Given the description of an element on the screen output the (x, y) to click on. 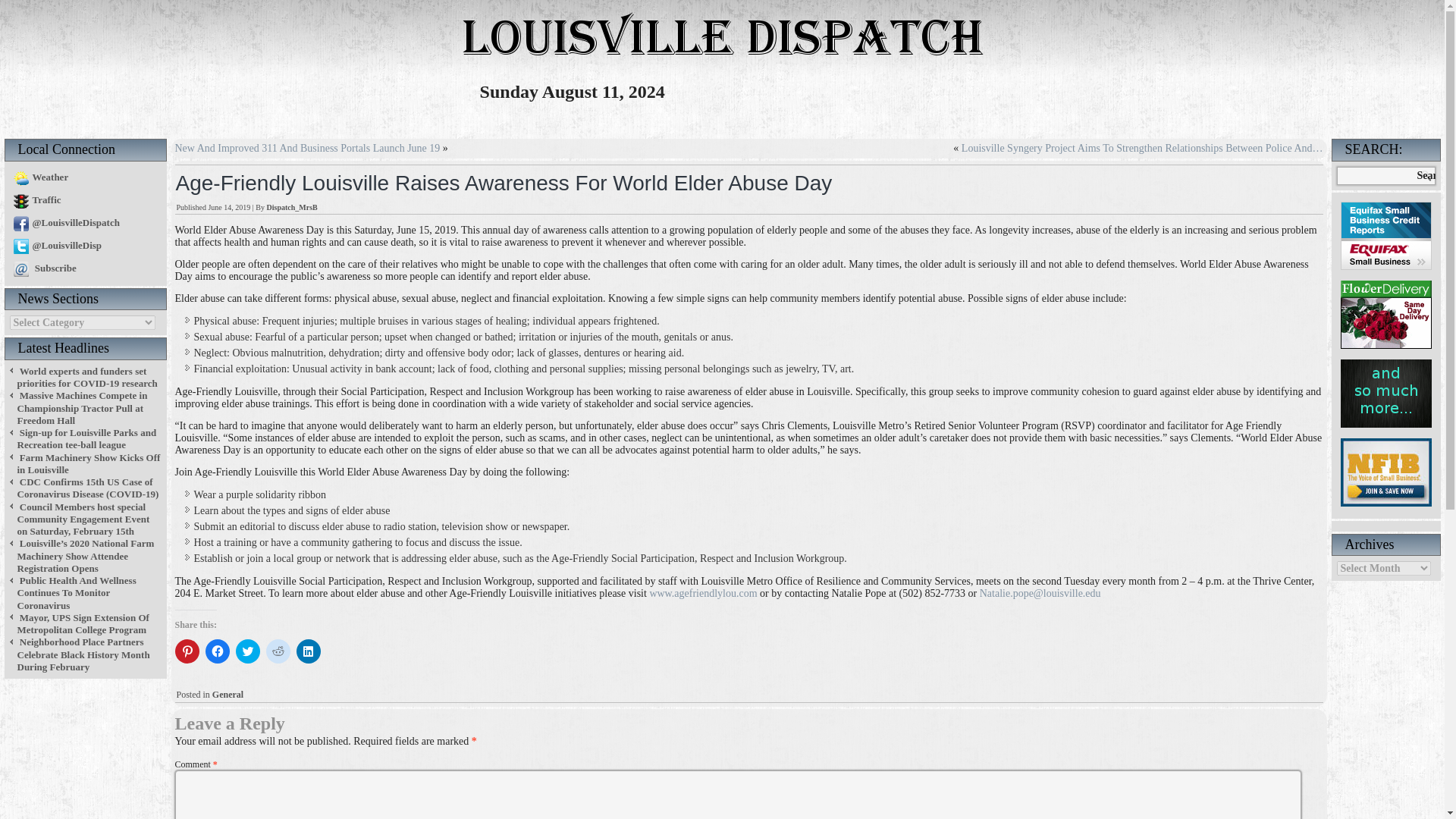
Search (1425, 176)
Mayor, UPS Sign Extension Of Metropolitan College Program (82, 623)
Sign-up for Louisville Parks and Recreation tee-ball league (85, 438)
Farm Machinery Show Kicks Off in Louisville (88, 463)
Click to share on Facebook (216, 651)
Click to share on Pinterest (186, 651)
Follow Louisville Dispatch on Twitter (54, 244)
Follow Louisville Dispatch on Facebook (63, 222)
Weather (38, 176)
